Given the description of an element on the screen output the (x, y) to click on. 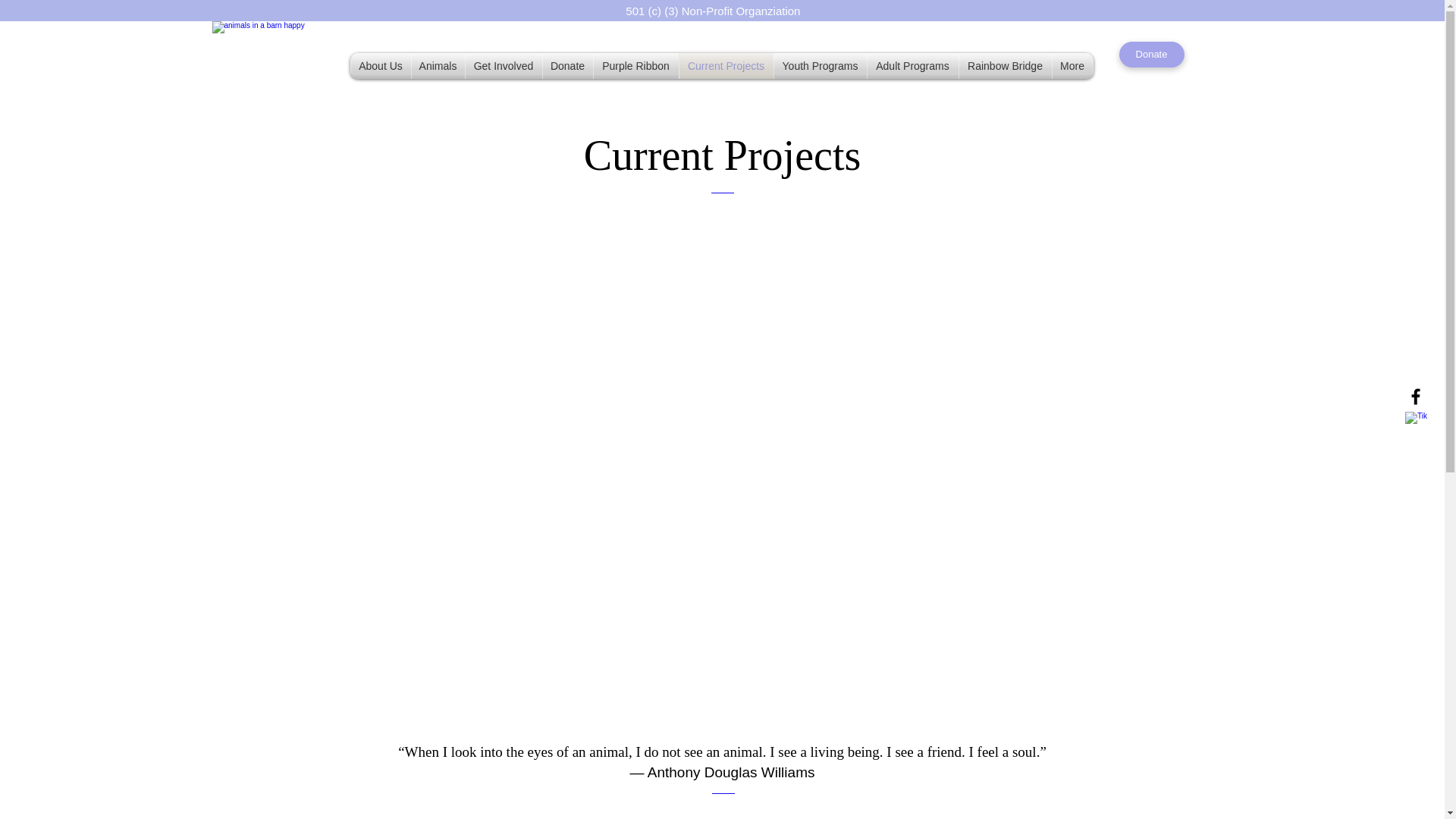
Screen Shot 2023-03-22 at 1.18.20 PM.png (281, 52)
Donate (567, 65)
Purple Ribbon (635, 65)
Current Projects (726, 65)
